Given the description of an element on the screen output the (x, y) to click on. 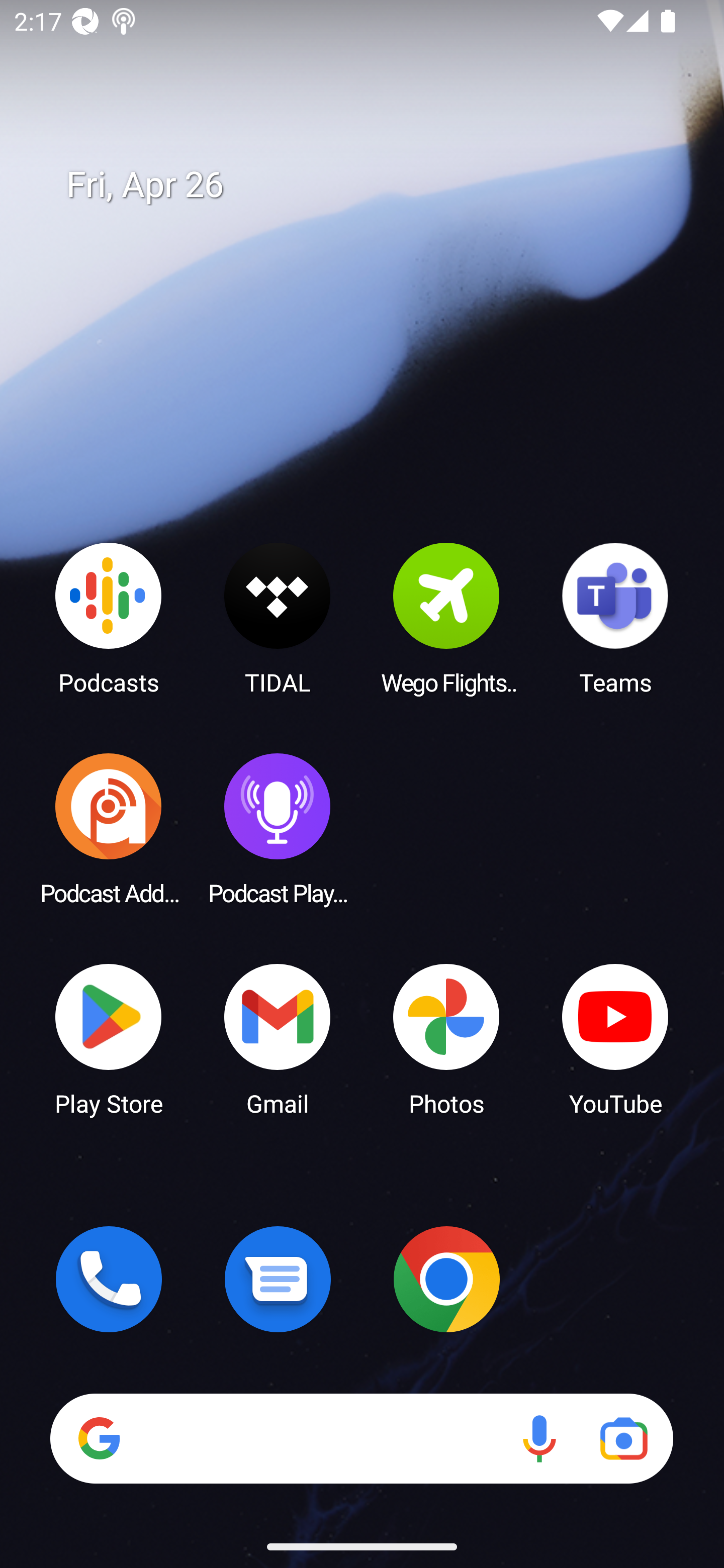
Fri, Apr 26 (375, 184)
Podcasts (108, 617)
TIDAL (277, 617)
Wego Flights & Hotels (445, 617)
Teams (615, 617)
Podcast Addict (108, 828)
Podcast Player (277, 828)
Play Store (108, 1038)
Gmail (277, 1038)
Photos (445, 1038)
YouTube (615, 1038)
Phone (108, 1279)
Messages (277, 1279)
Chrome (446, 1279)
Search Voice search Google Lens (361, 1438)
Voice search (539, 1438)
Google Lens (623, 1438)
